Given the description of an element on the screen output the (x, y) to click on. 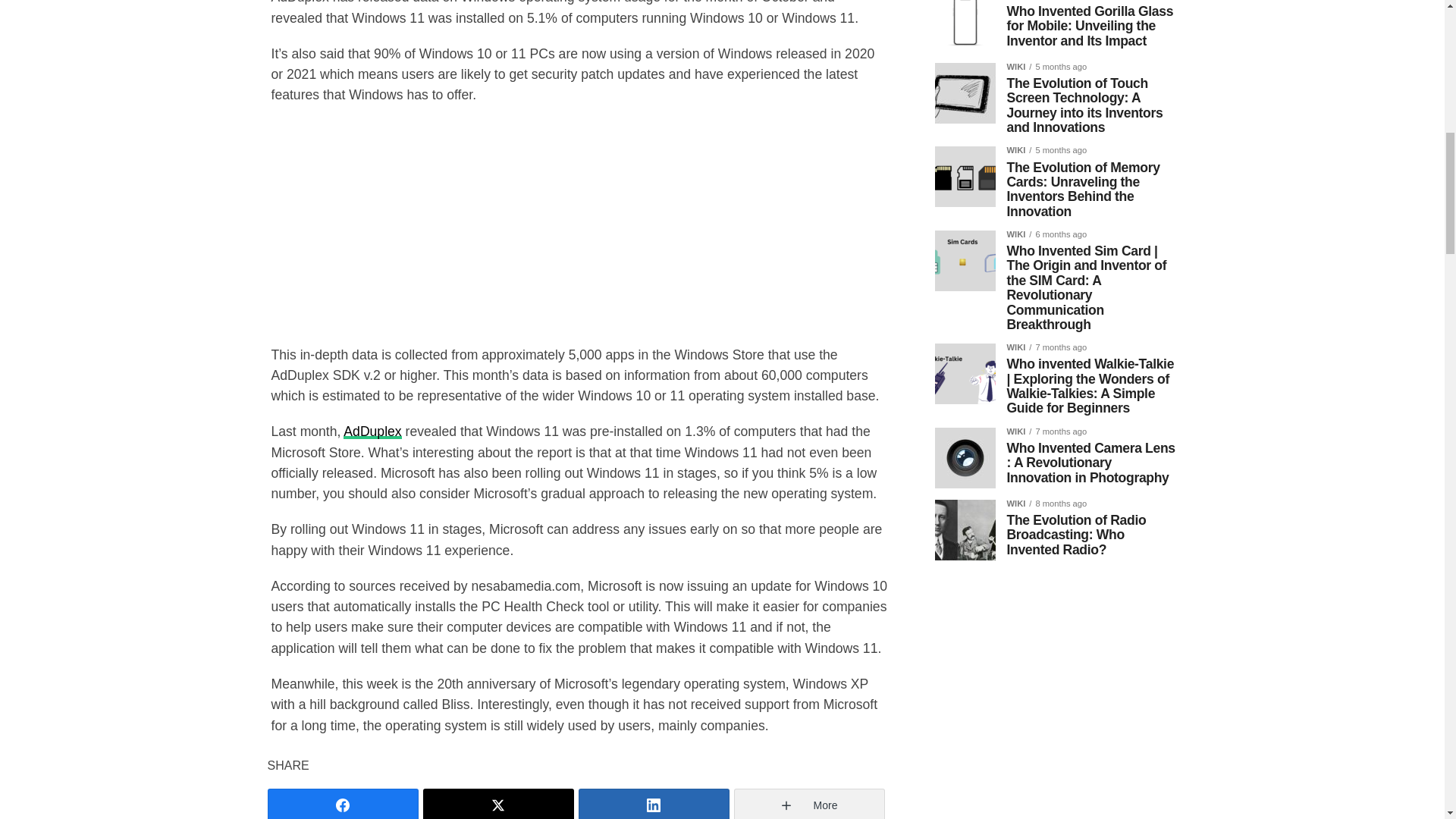
Advertisement (577, 227)
More (809, 803)
AdDuplex (372, 431)
